Given the description of an element on the screen output the (x, y) to click on. 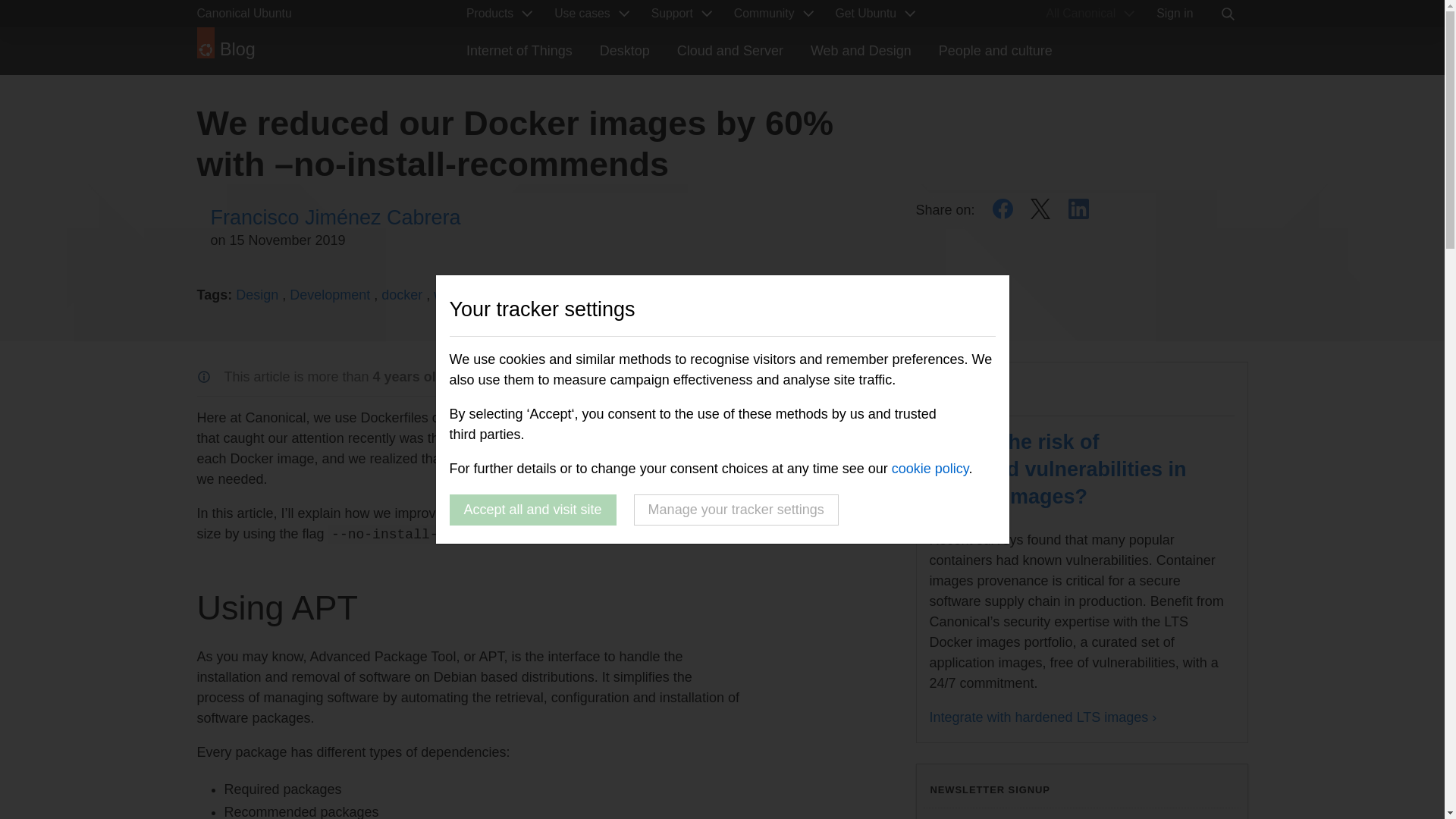
Share on Twitter (1040, 209)
Share on Facebook (1002, 209)
Share on LinkedIn (1078, 209)
All Canonical (1087, 13)
Use cases (588, 13)
Products (496, 13)
Support (678, 13)
Get Ubuntu (873, 13)
Community (771, 13)
Canonical Ubuntu (285, 13)
